Given the description of an element on the screen output the (x, y) to click on. 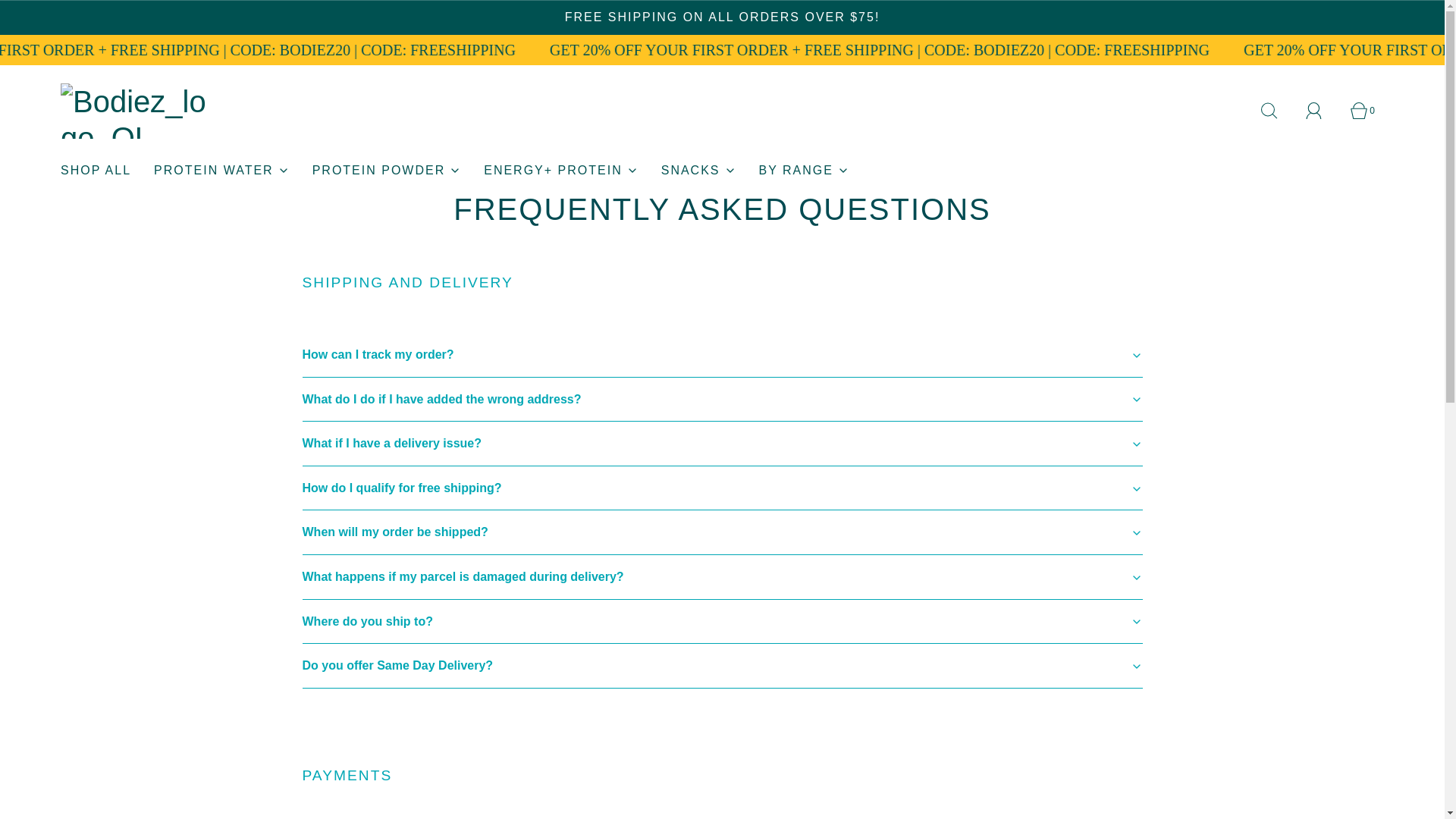
Cart (1367, 110)
Log in (1322, 110)
Search (1277, 110)
